Given the description of an element on the screen output the (x, y) to click on. 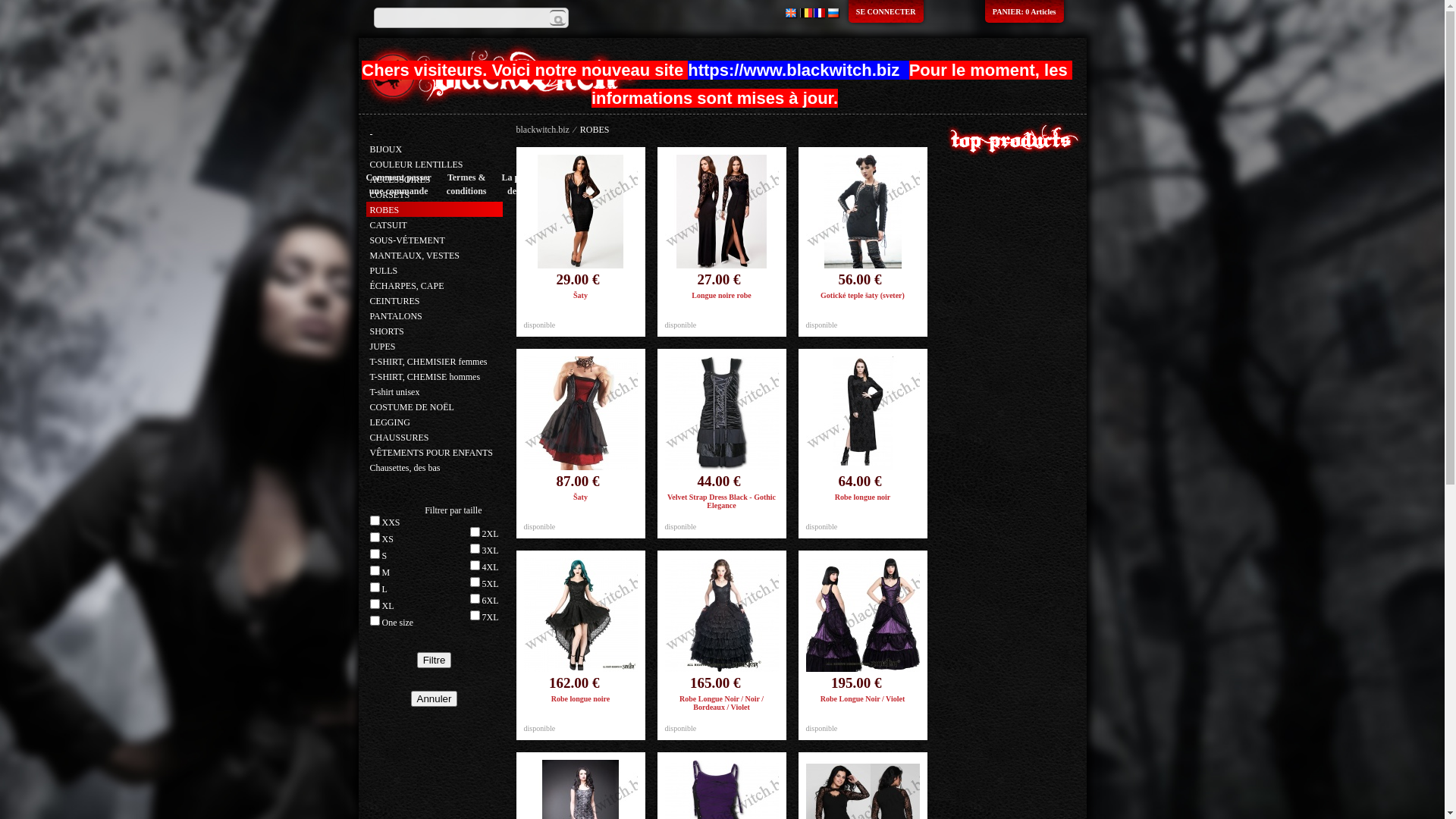
CORSETS Element type: text (390, 194)
Termes &
conditions Element type: text (466, 184)
blackwitch.biz Element type: text (541, 129)
Chausettes, des bas Element type: text (405, 467)
Contact Element type: text (627, 183)
COULEUR LENTILLES Element type: text (416, 164)
MANTEAUX, VESTES Element type: text (414, 255)
ACCESSOIRES Element type: text (400, 179)
La politique
de retour Element type: text (525, 184)
SHORTS Element type: text (387, 331)
gothic_kleding_blackwitch Element type: hover (503, 75)
T-shirt unisex Element type: text (395, 391)
Comment passer
une commande Element type: text (397, 184)
Table de
taille Element type: text (580, 184)
T-SHIRT, CHEMISIER femmes Element type: text (428, 361)
Annuler Element type: text (434, 698)
ROBES Element type: text (594, 129)
JUPES Element type: text (382, 346)
Filtre Element type: text (434, 660)
PANTALONS Element type: text (396, 315)
PULLS Element type: text (384, 270)
T-SHIRT, CHEMISE hommes Element type: text (425, 376)
CATSUIT Element type: text (388, 224)
CHAUSSURES Element type: text (399, 437)
CEINTURES Element type: text (395, 300)
BIJOUX Element type: text (386, 149)
- Element type: text (371, 133)
LEGGING Element type: text (390, 422)
ROBES Element type: text (384, 209)
https://www.blackwitch.biz  Element type: text (795, 72)
